Given the description of an element on the screen output the (x, y) to click on. 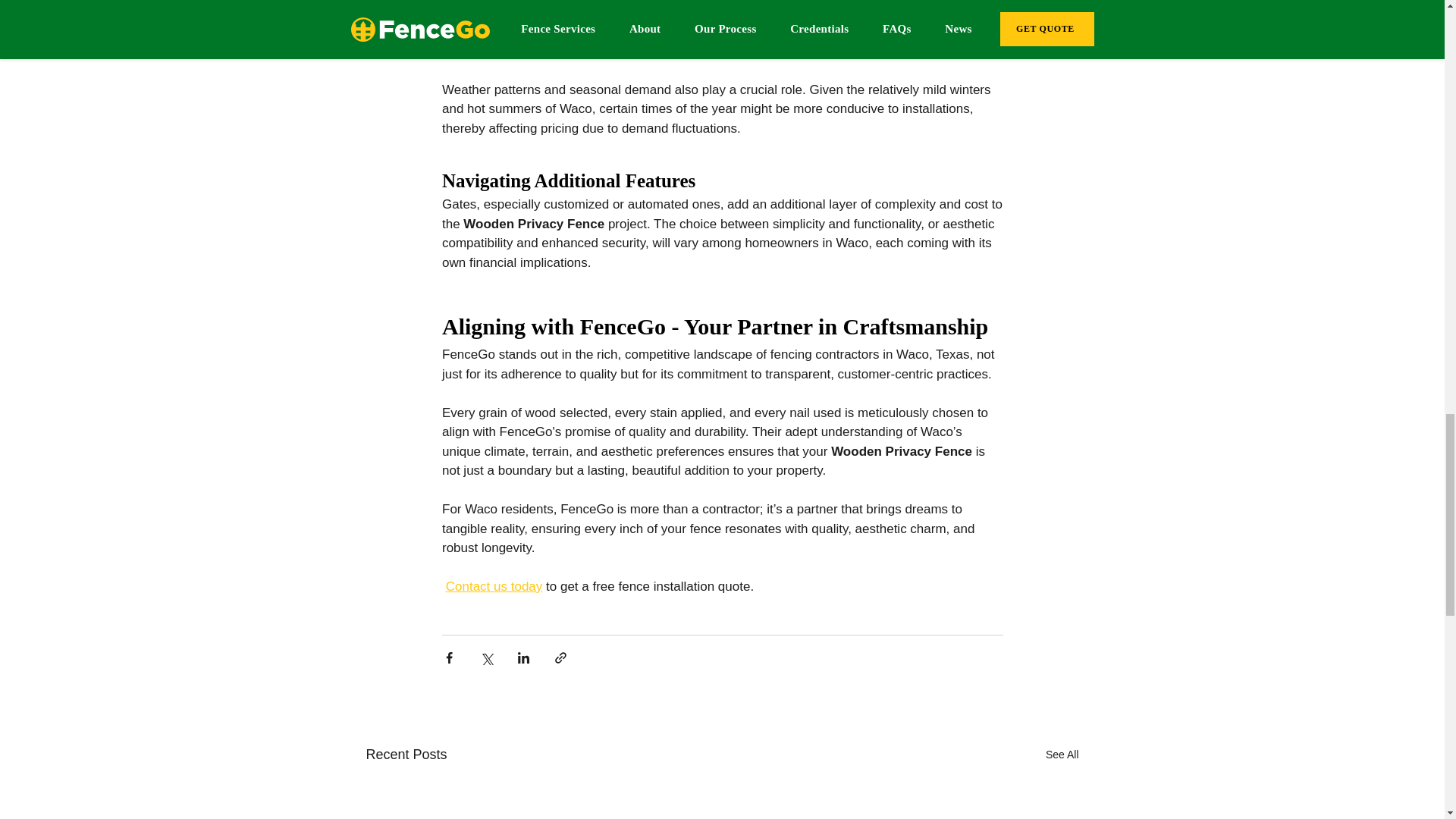
Contact us today (493, 586)
See All (1061, 754)
fence installations (681, 11)
